Given the description of an element on the screen output the (x, y) to click on. 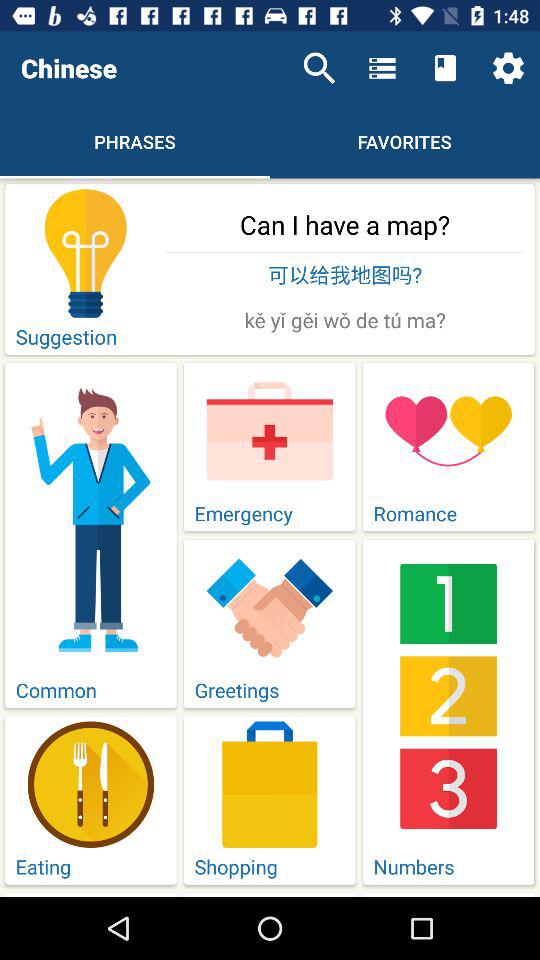
turn on icon above can i have icon (319, 67)
